Given the description of an element on the screen output the (x, y) to click on. 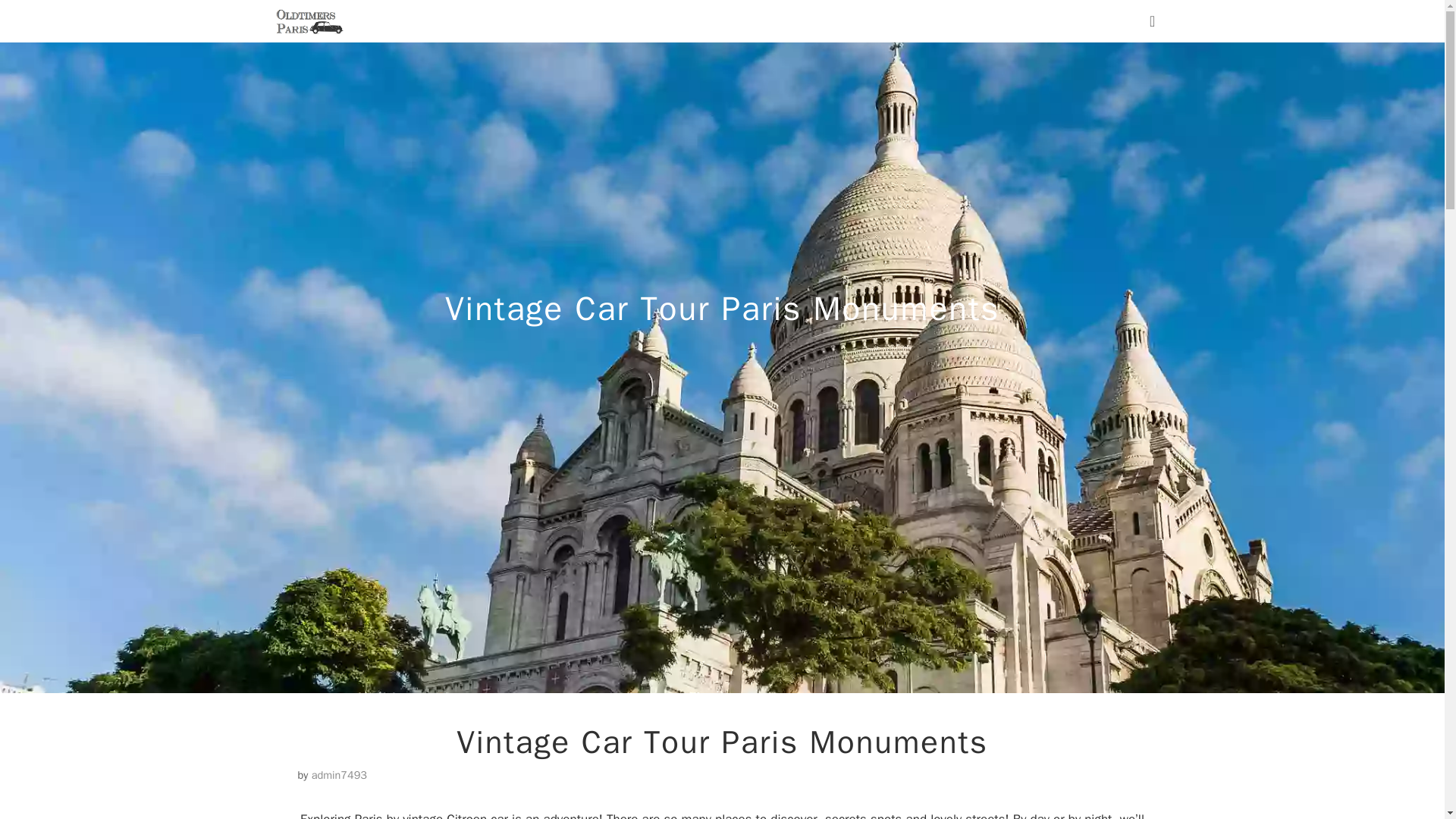
Menu (1159, 21)
OldtimersParis.com (308, 21)
admin7493 (338, 775)
View all posts by admin7493 (338, 775)
